Given the description of an element on the screen output the (x, y) to click on. 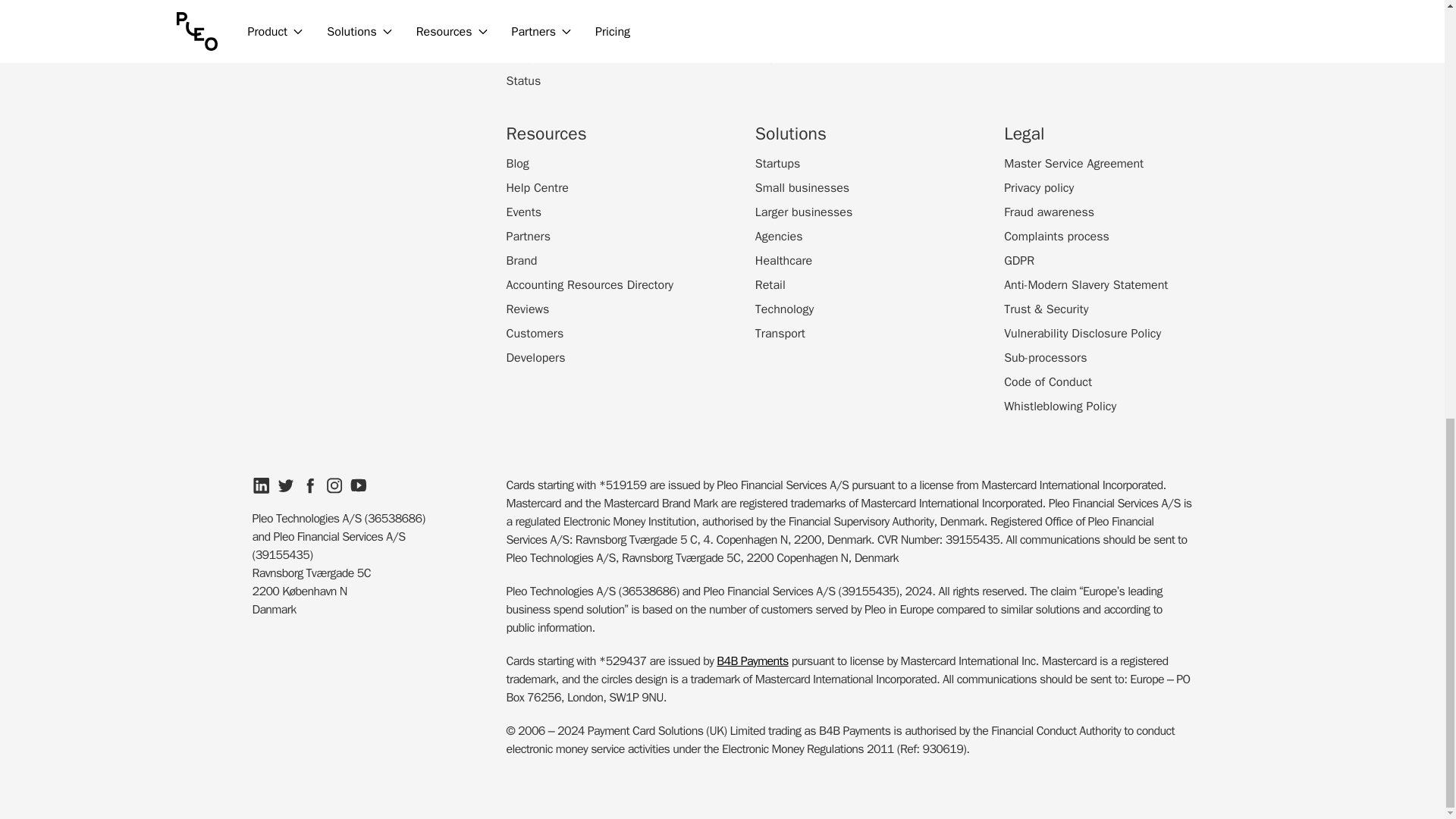
Customers (535, 333)
Reviews (528, 309)
Developers (536, 357)
Blog (517, 163)
Legal (769, 56)
Press (769, 8)
Startups (777, 163)
Pricing (523, 32)
Brand (521, 260)
Events (523, 212)
